Given the description of an element on the screen output the (x, y) to click on. 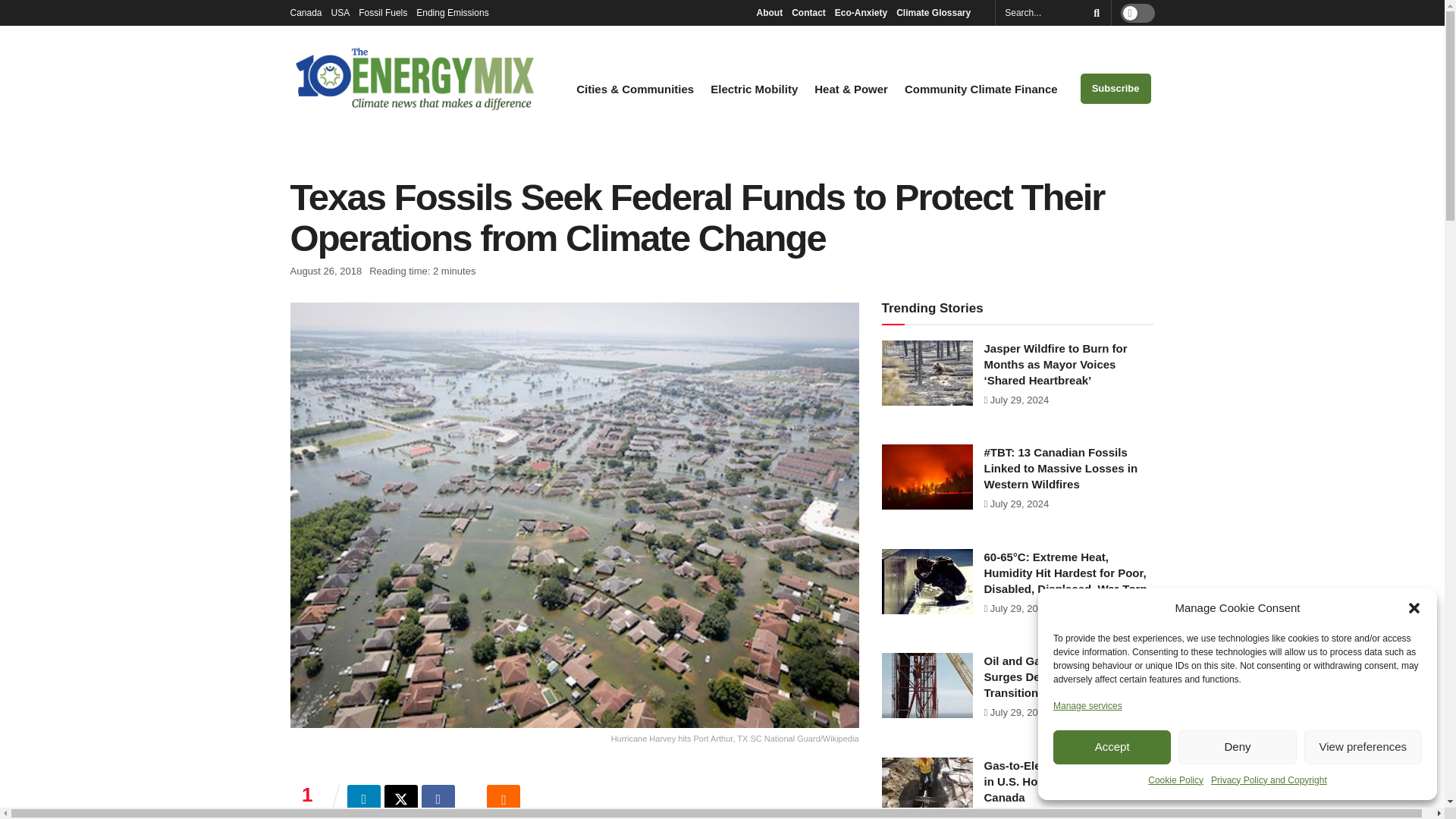
Fossil Fuels (382, 12)
Electric Mobility (753, 89)
Canada (305, 12)
Privacy Policy and Copyright (1268, 780)
Climate Glossary (937, 12)
Cookie Policy (1176, 780)
Deny (1236, 747)
Accept (1111, 747)
Eco-Anxiety (860, 12)
Subscribe (1115, 88)
